Given the description of an element on the screen output the (x, y) to click on. 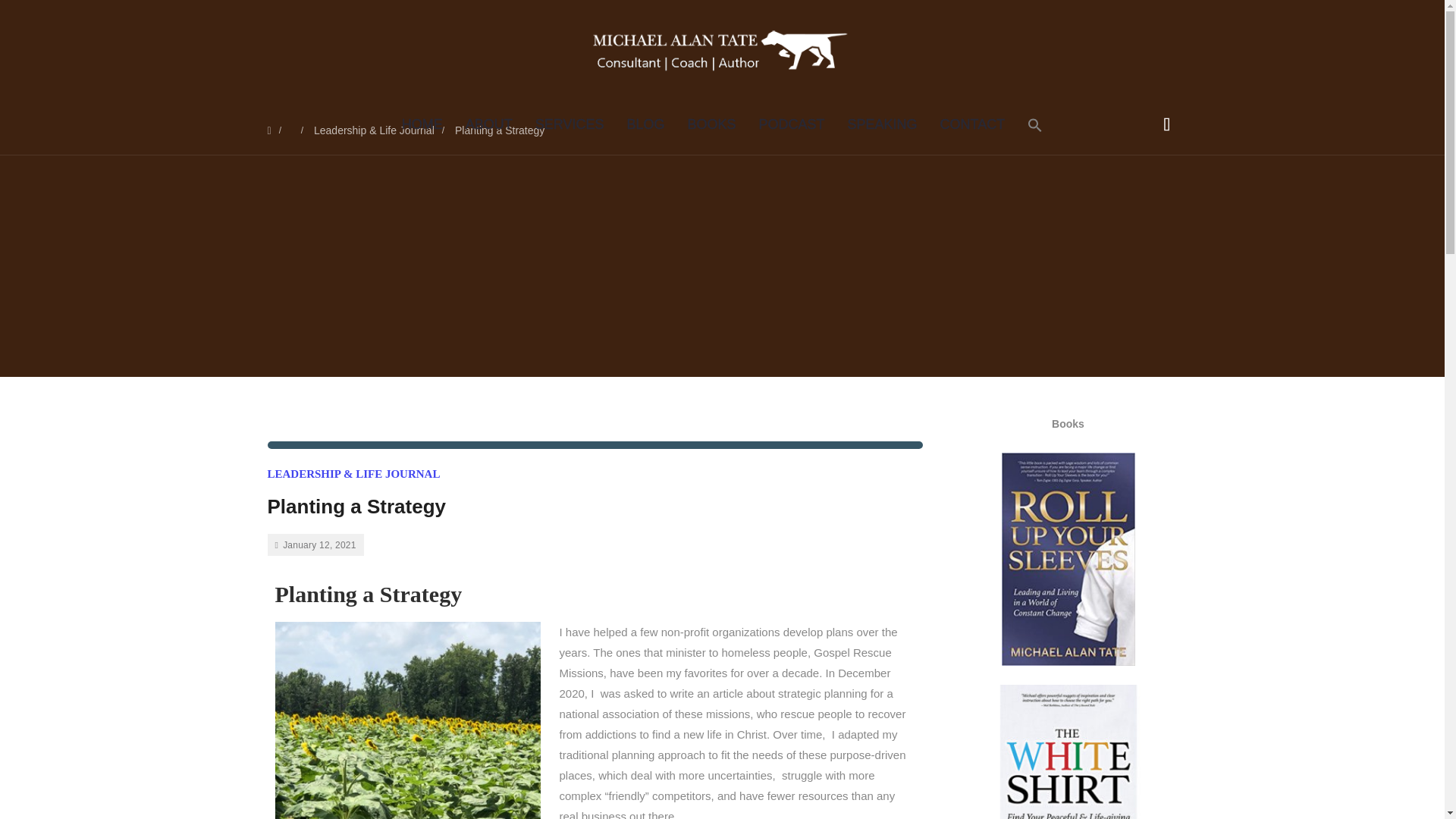
HOME (422, 124)
SPEAKING (881, 124)
ABOUT (489, 124)
January 12, 2021 (315, 544)
PODCAST (791, 124)
CONTACT (972, 124)
BOOKS (712, 124)
BLOG (644, 124)
SERVICES (569, 124)
Michael Alan Tate (721, 48)
